Given the description of an element on the screen output the (x, y) to click on. 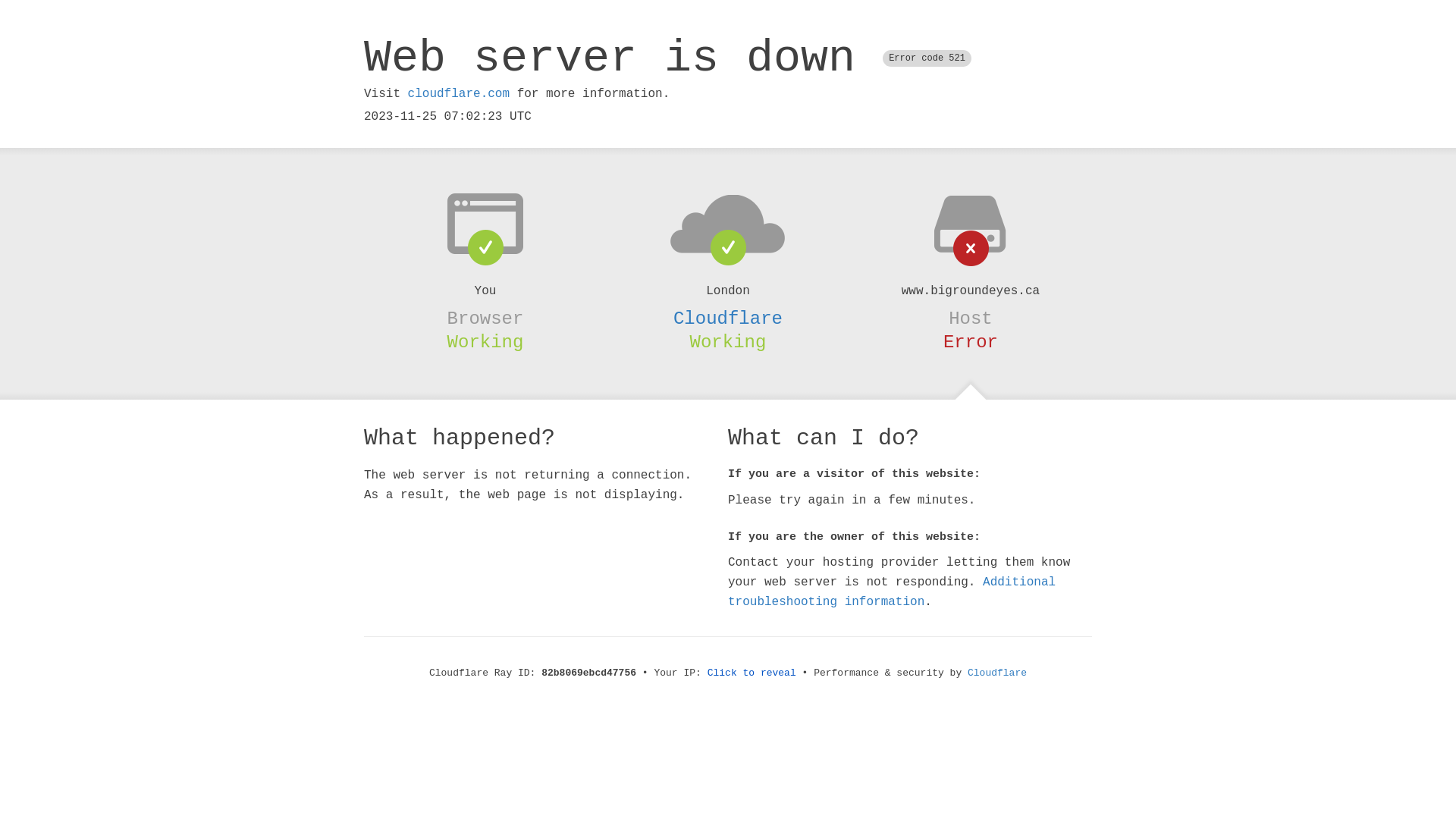
Cloudflare Element type: text (996, 672)
Cloudflare Element type: text (727, 318)
Additional troubleshooting information Element type: text (891, 591)
cloudflare.com Element type: text (458, 93)
Click to reveal Element type: text (751, 672)
